Given the description of an element on the screen output the (x, y) to click on. 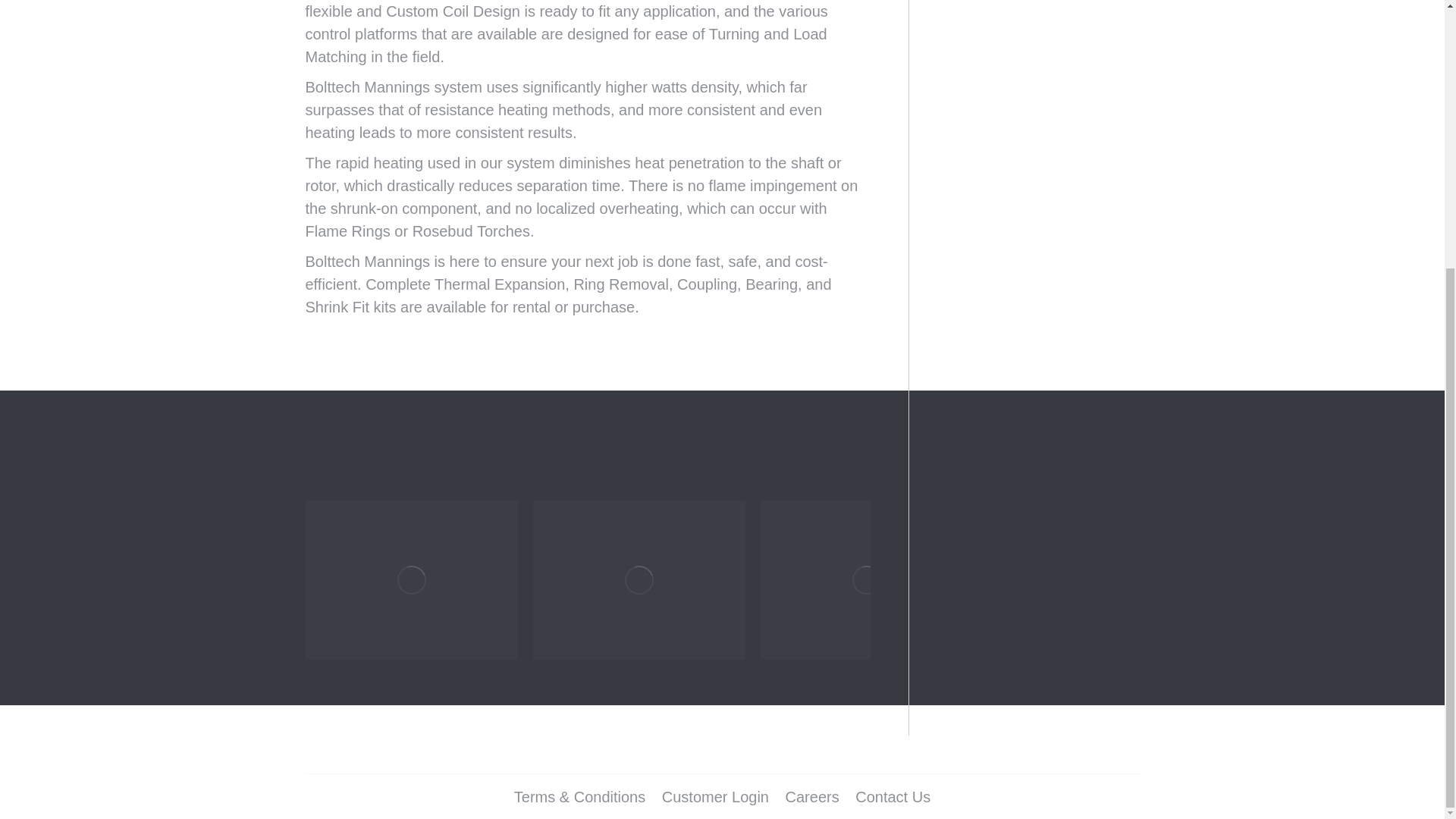
DSCN0942 (638, 580)
DSCN1096 (866, 580)
DSCN0045 (410, 580)
